Given the description of an element on the screen output the (x, y) to click on. 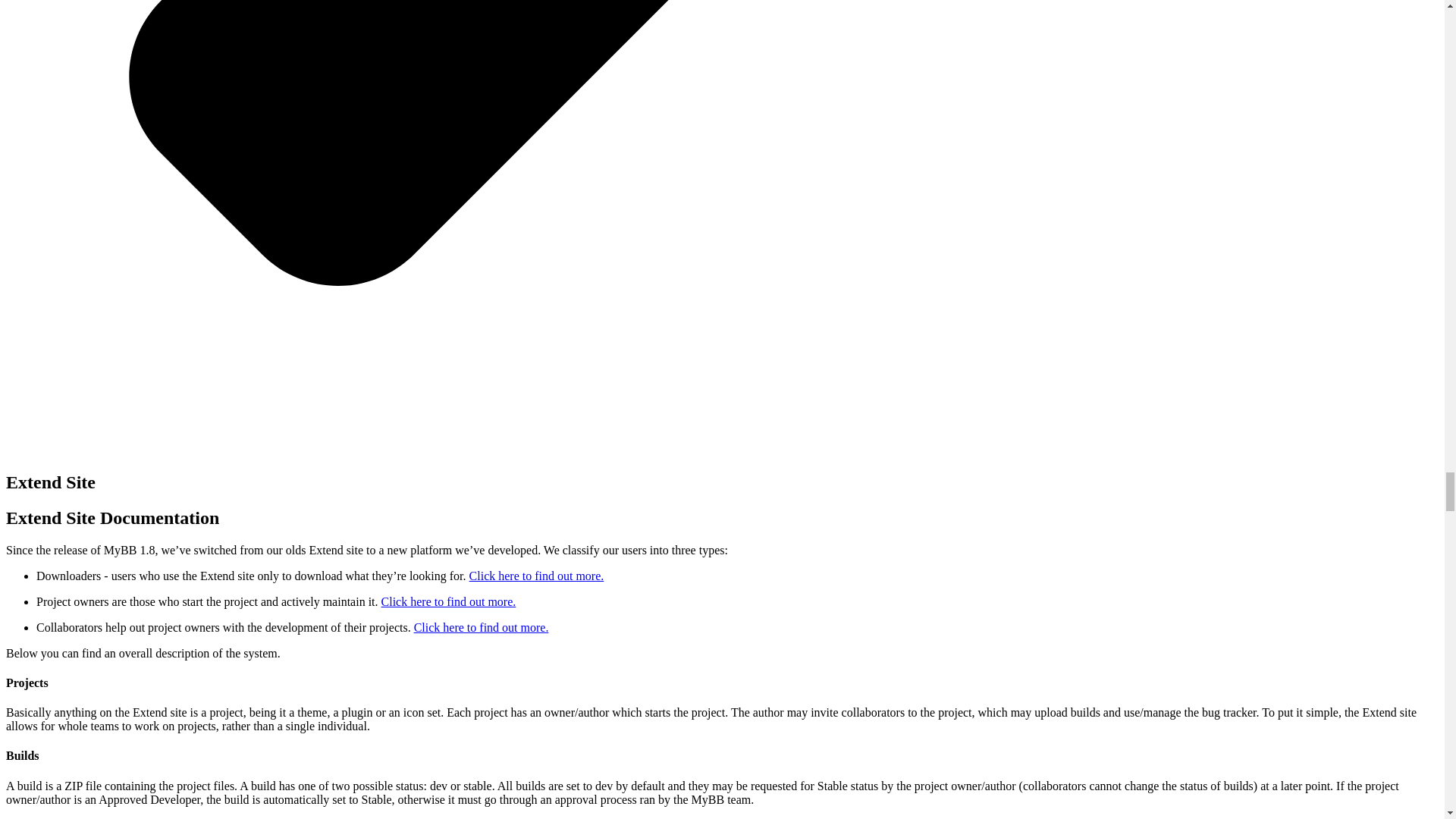
Click here to find out more. (480, 626)
Click here to find out more. (448, 601)
Click here to find out more. (536, 575)
